Given the description of an element on the screen output the (x, y) to click on. 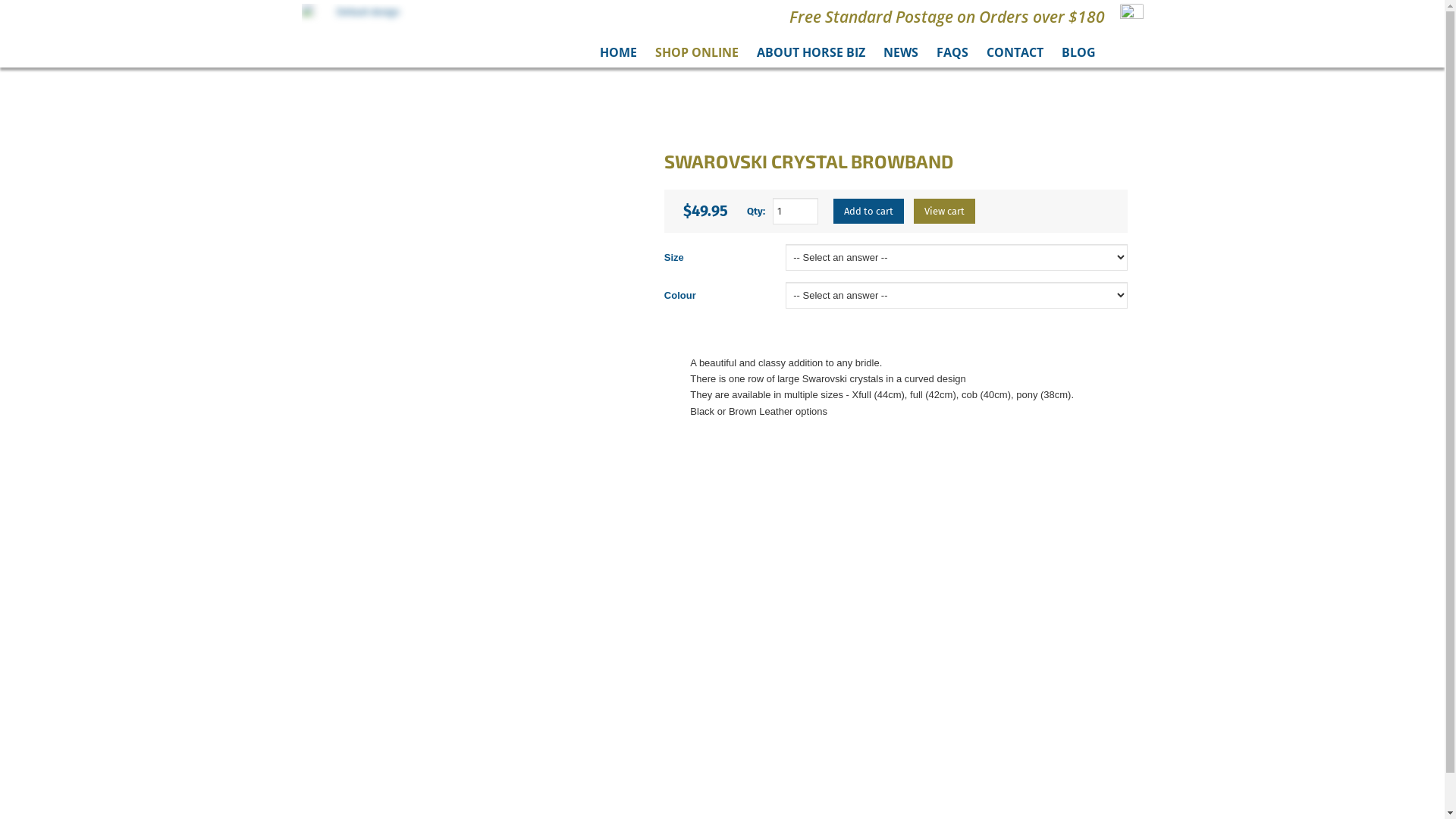
NEWS Element type: text (899, 52)
FAQS Element type: text (951, 52)
HOME Element type: text (617, 52)
BLOG Element type: text (1078, 52)
SHOP ONLINE Element type: text (696, 52)
View cart Element type: text (944, 210)
Login Element type: text (721, 807)
ABOUT HORSE BIZ Element type: text (810, 52)
Add to cart Element type: text (868, 210)
CONTACT Element type: text (1013, 52)
